Given the description of an element on the screen output the (x, y) to click on. 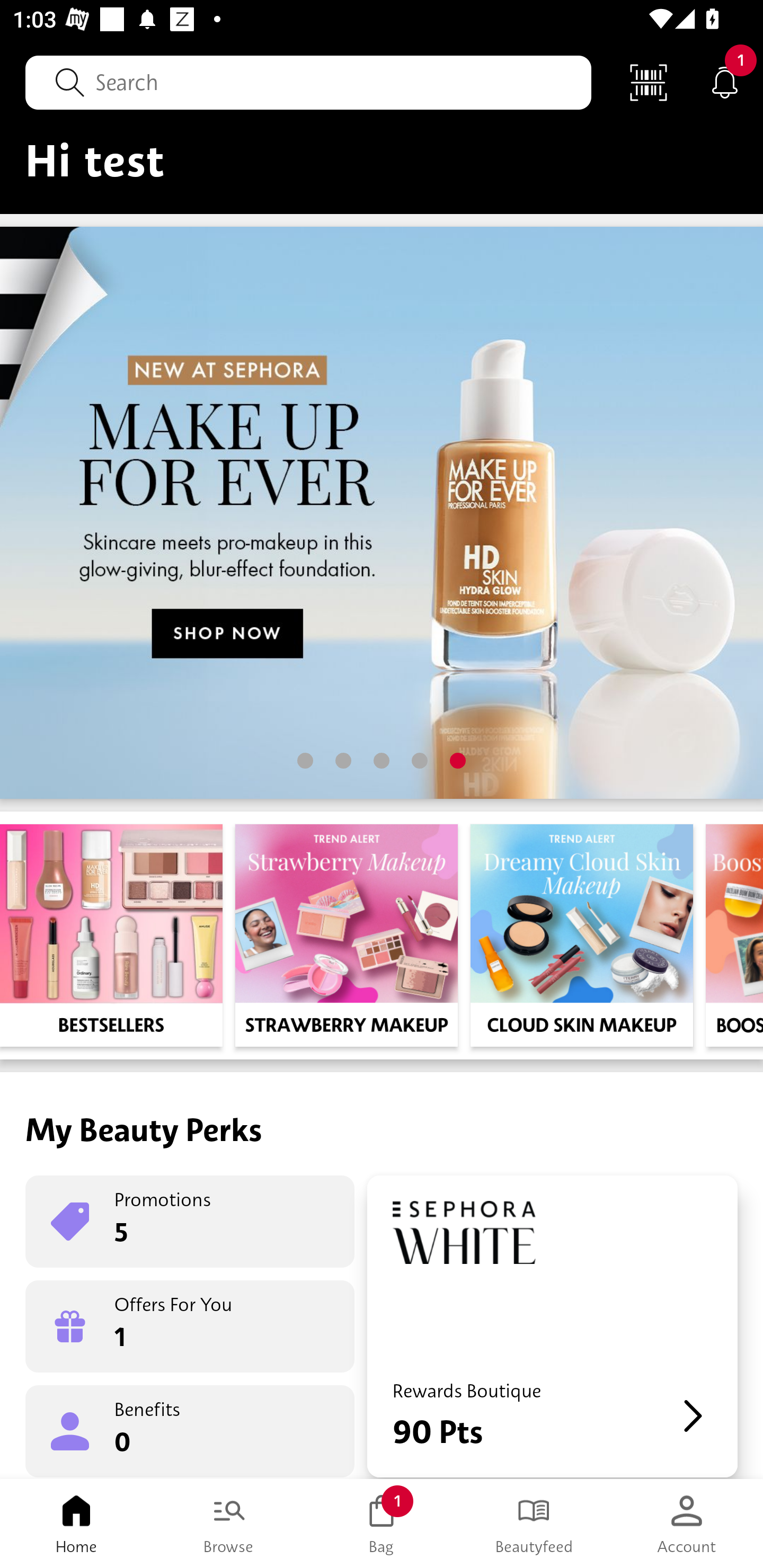
Scan Code (648, 81)
Notifications (724, 81)
Search (308, 81)
Promotions 5 (189, 1221)
Rewards Boutique 90 Pts (552, 1326)
Offers For You 1 (189, 1326)
Benefits 0 (189, 1430)
Browse (228, 1523)
Bag 1 Bag (381, 1523)
Beautyfeed (533, 1523)
Account (686, 1523)
